Given the description of an element on the screen output the (x, y) to click on. 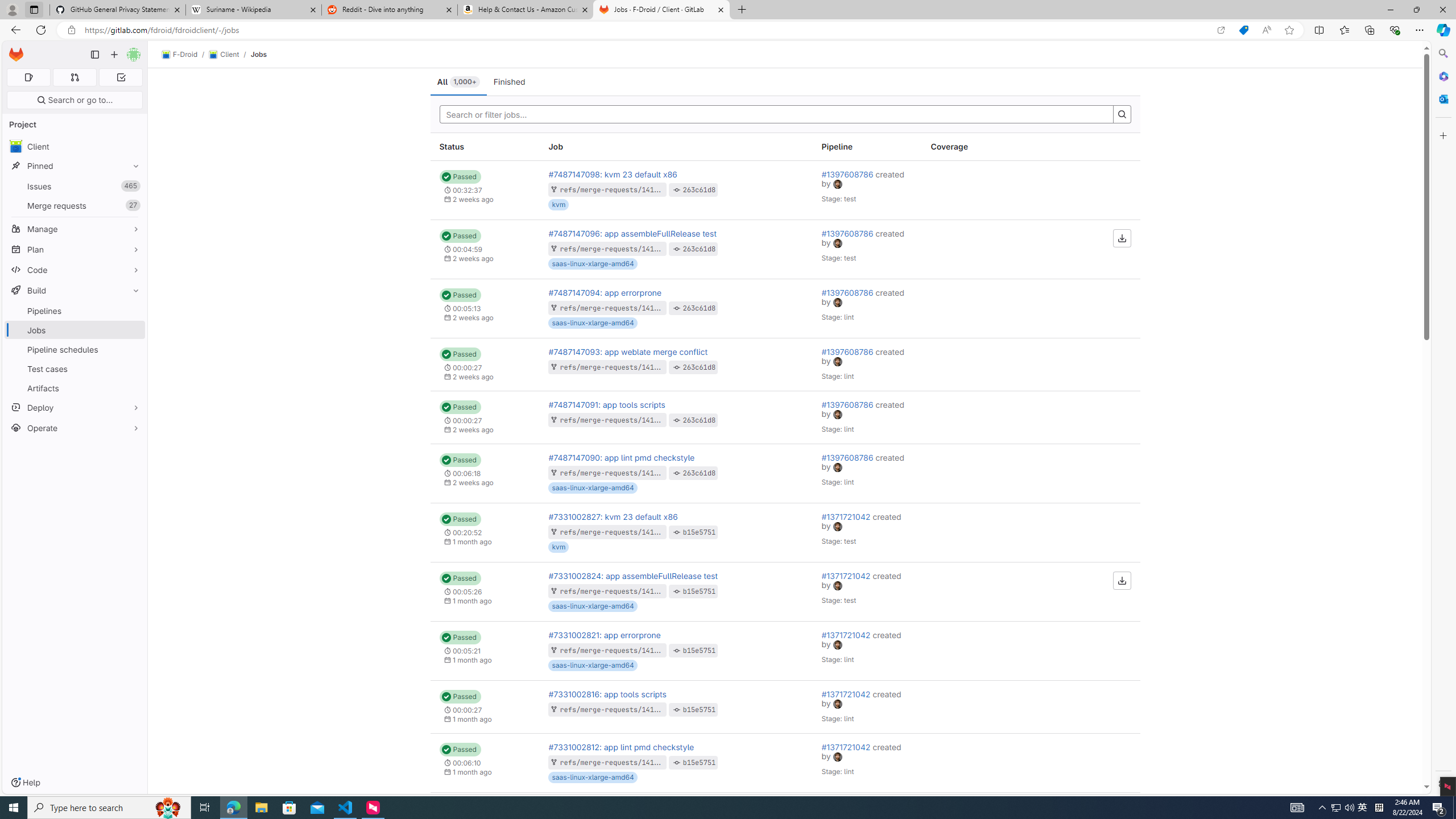
Code (74, 269)
Jobs (258, 53)
Status: Passed 00:04:59 2 weeks ago (484, 249)
